Given the description of an element on the screen output the (x, y) to click on. 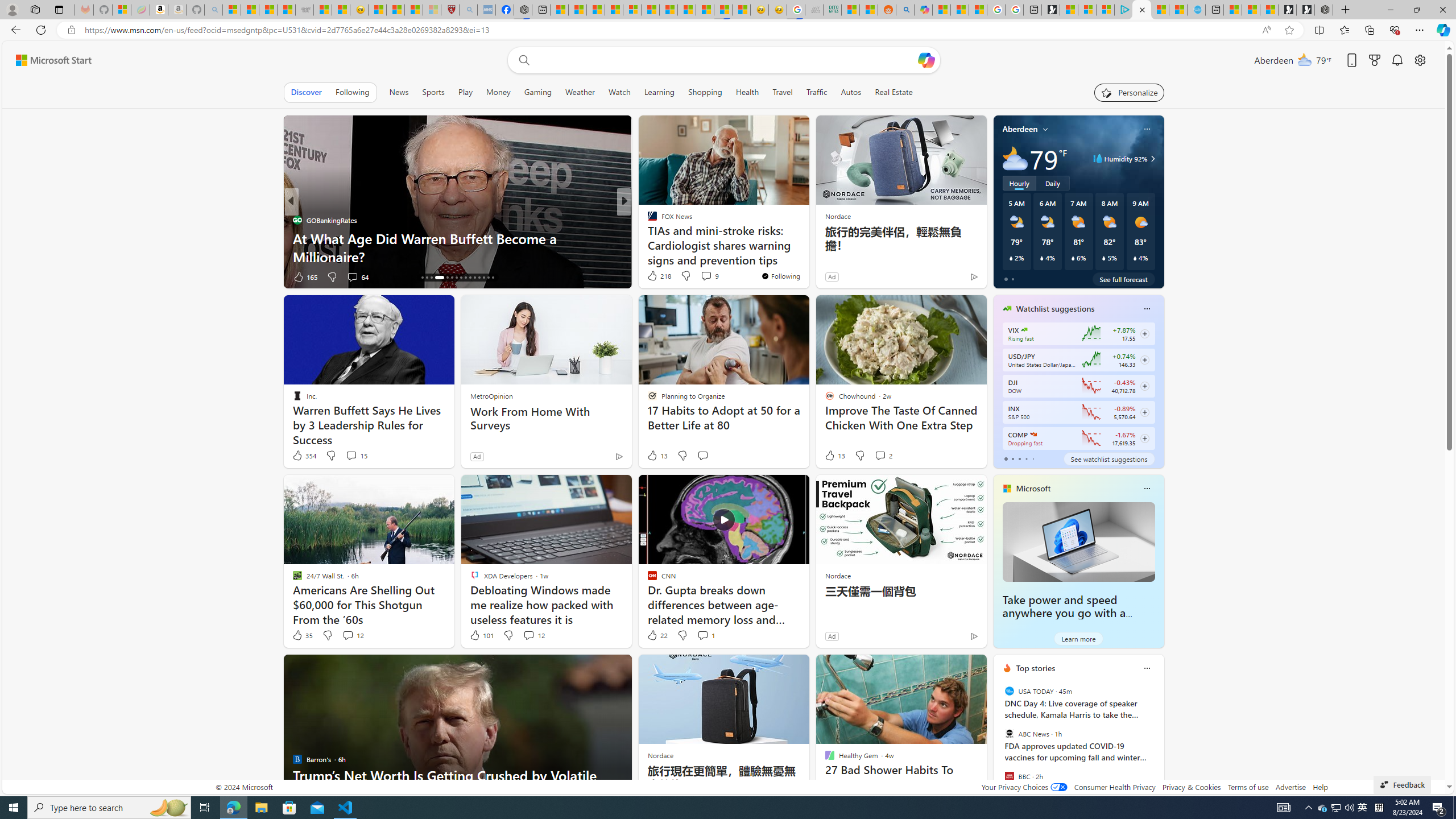
Microsoft Copilot in Bing (923, 9)
BBC (1008, 775)
tab-4 (1032, 458)
View comments 9 Comment (705, 275)
Parade (647, 219)
